Given the description of an element on the screen output the (x, y) to click on. 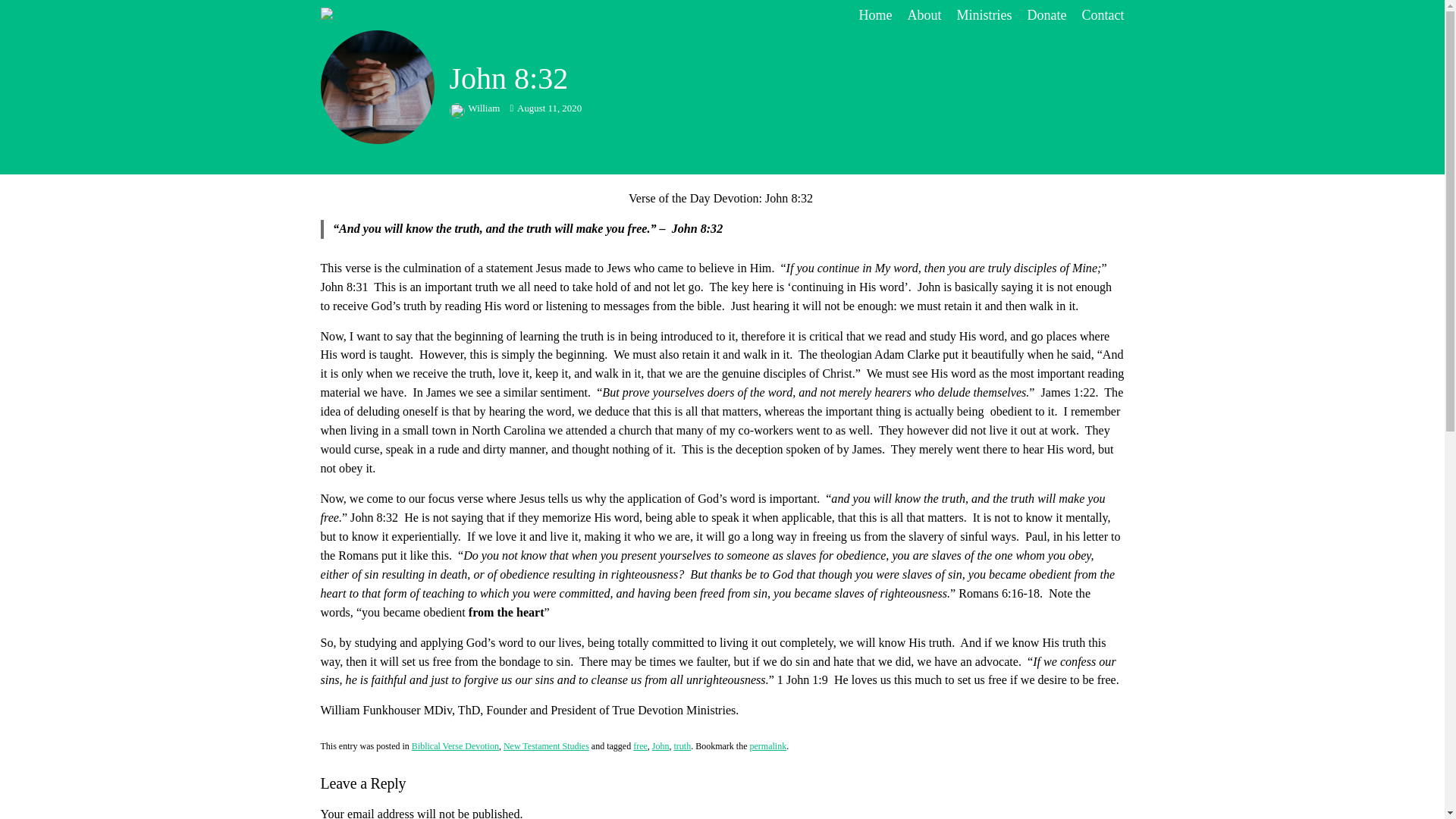
John (660, 746)
August 11, 2020 (544, 108)
permalink (767, 746)
truth (681, 746)
Contact (1102, 15)
7:37 pm (544, 108)
Ministries (983, 15)
William (475, 108)
True Devotion Ministries! (423, 15)
free (640, 746)
